Given the description of an element on the screen output the (x, y) to click on. 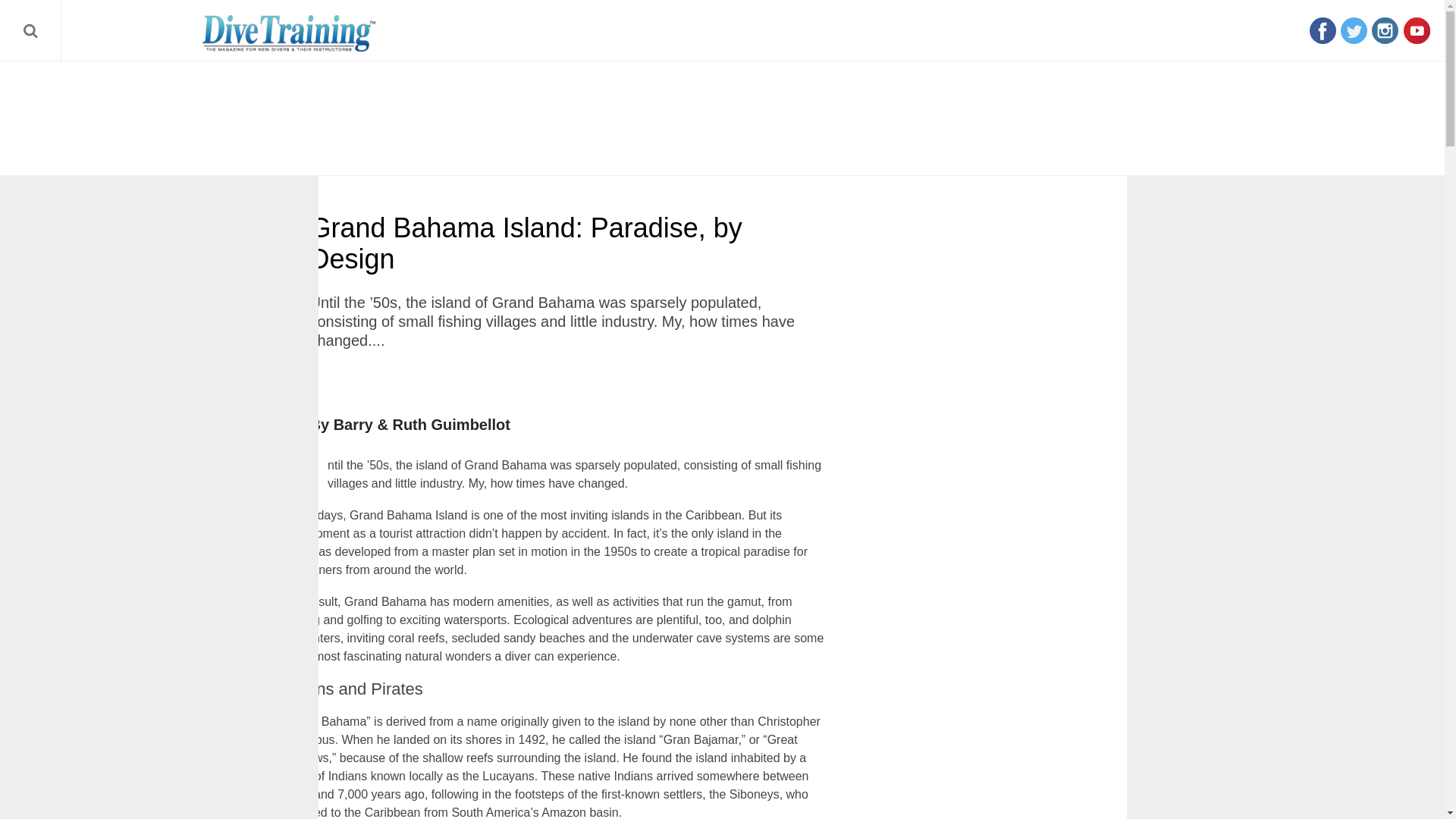
Link to our Instagram page. (1384, 29)
Link to our Facebook page. (1322, 29)
Link to our YouTube page. (1416, 29)
Link to our Twitter page. (1353, 29)
Scuba Diving (289, 33)
